Given the description of an element on the screen output the (x, y) to click on. 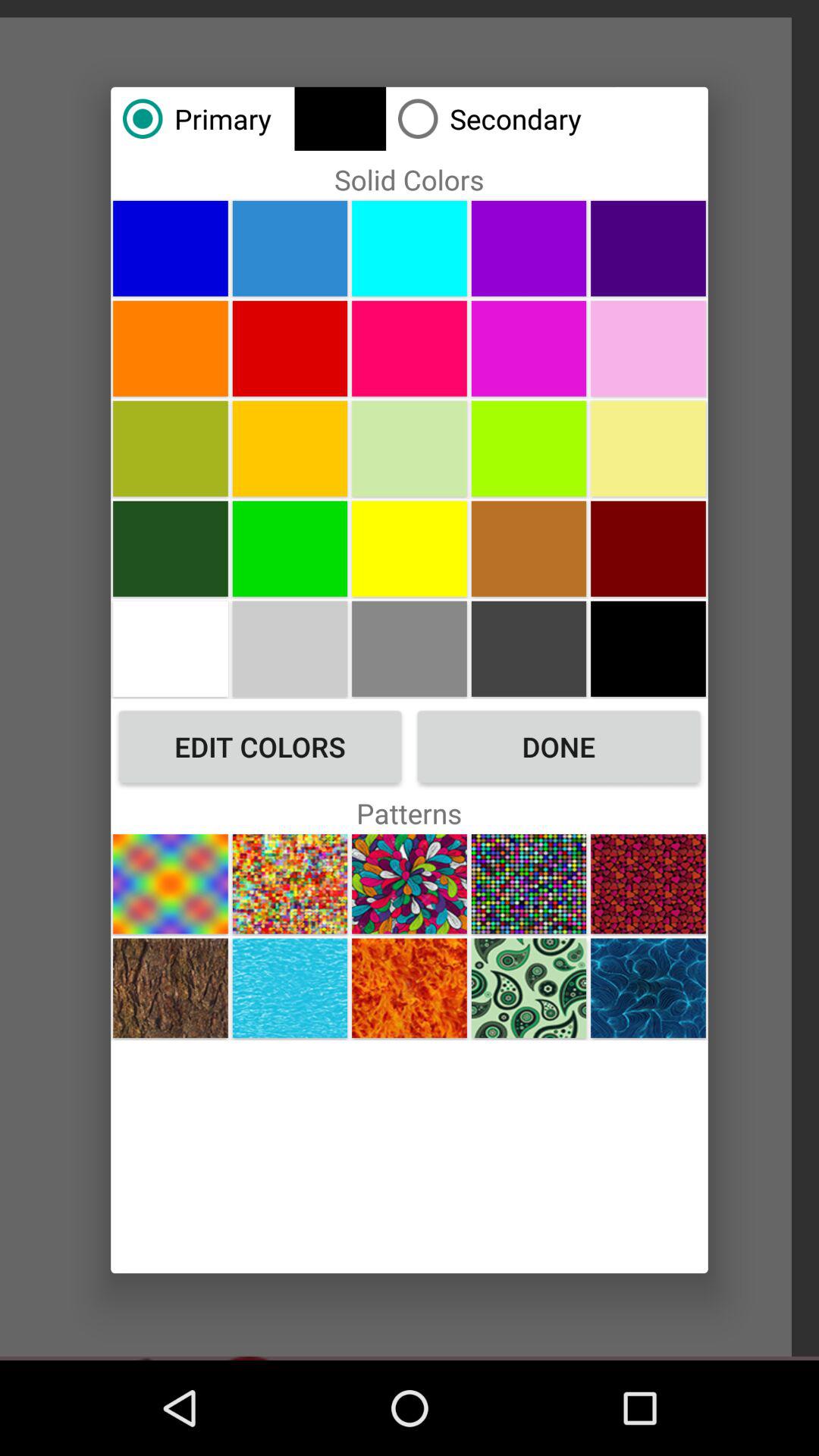
select sprinkles pattern (289, 883)
